Given the description of an element on the screen output the (x, y) to click on. 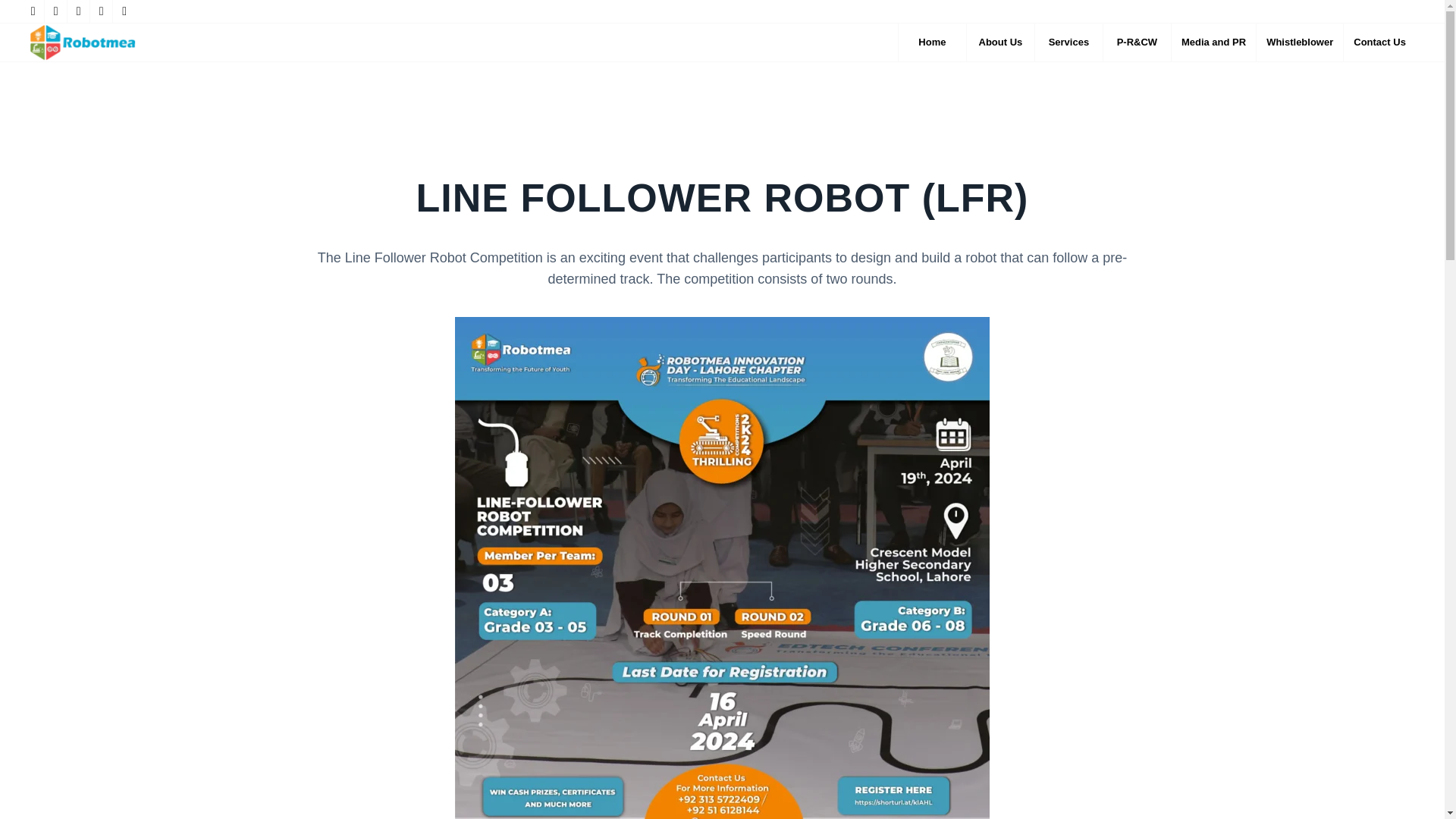
Media and PR (1212, 42)
Contact Us (1378, 42)
Youtube (101, 11)
Instagram (124, 11)
Whistleblower (1298, 42)
About Us (999, 42)
LinkedIn (77, 11)
Services (1067, 42)
Twitter (32, 11)
Home (932, 42)
Facebook (55, 11)
